Given the description of an element on the screen output the (x, y) to click on. 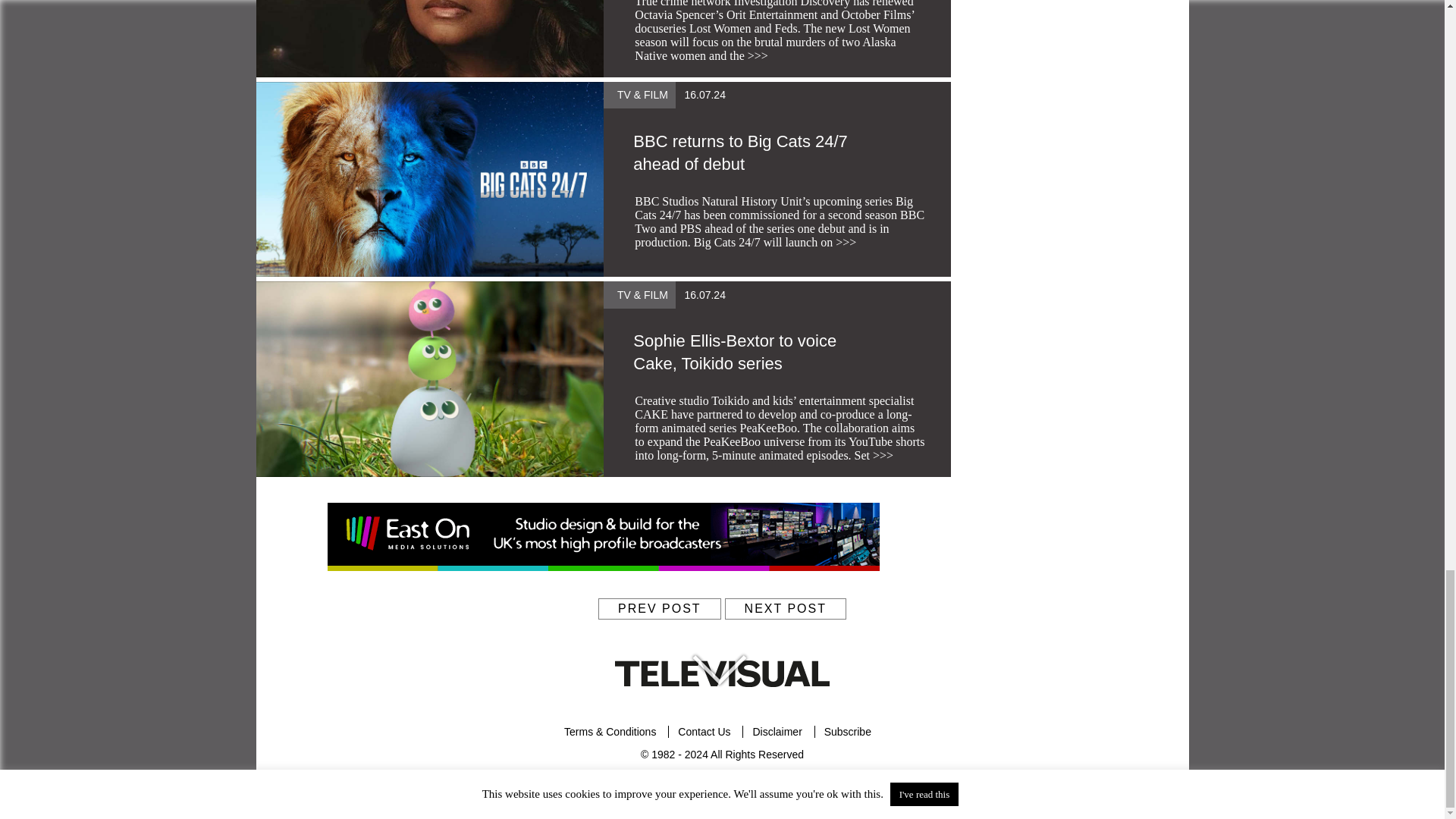
televisual-logo (721, 673)
